Given the description of an element on the screen output the (x, y) to click on. 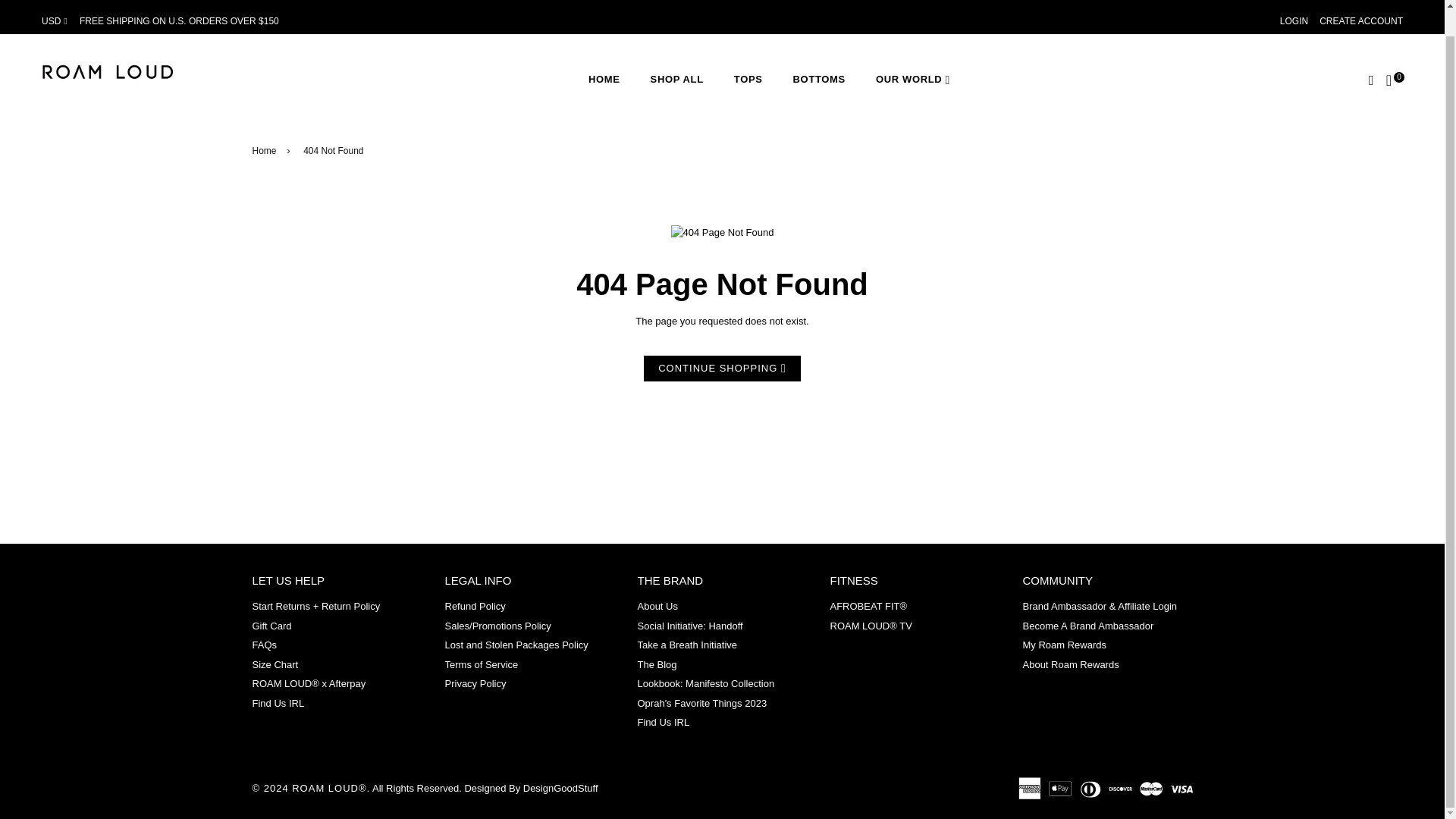
BOTTOMS (818, 79)
CONTINUE SHOPPING (721, 368)
OUR WORLD (912, 79)
HOME (603, 79)
Back to the home page (266, 151)
CREATE ACCOUNT (1361, 20)
Home (266, 151)
LOGIN (1293, 20)
Gift Card (271, 625)
TOPS (748, 79)
Size Chart (274, 664)
SHOP ALL (676, 79)
FAQs (263, 644)
